Given the description of an element on the screen output the (x, y) to click on. 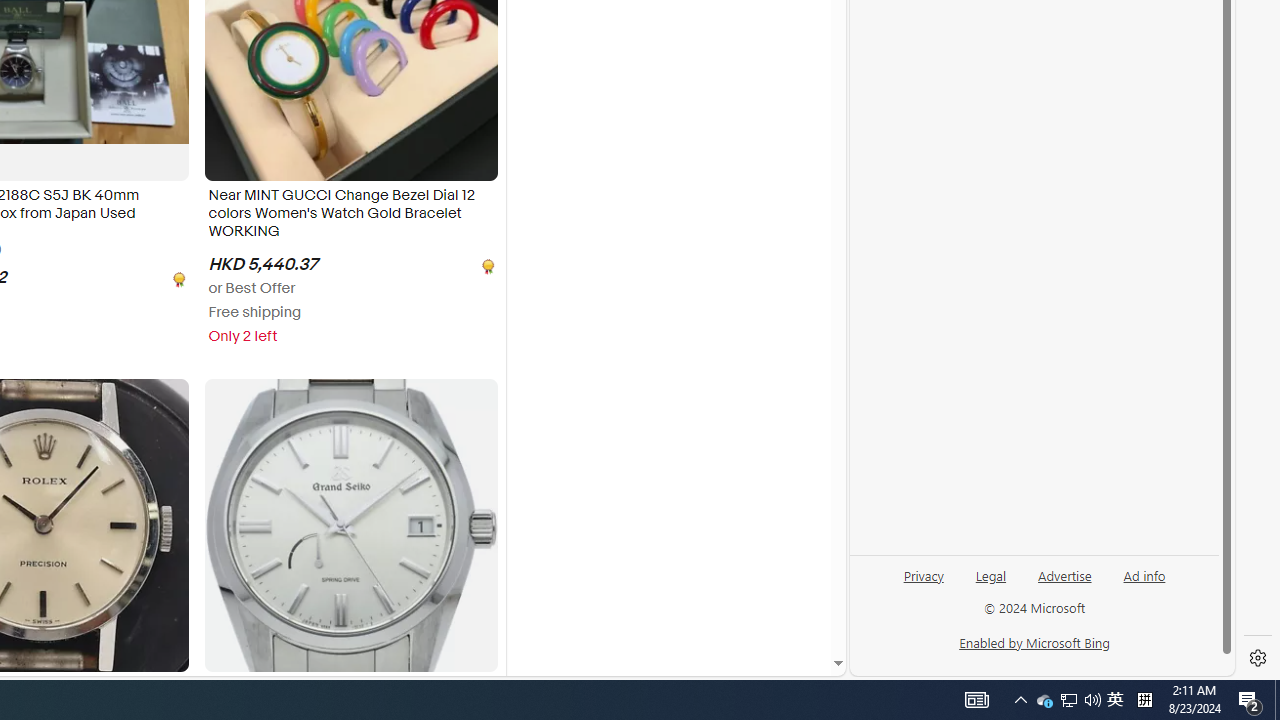
Privacy (923, 583)
Ad info (1144, 583)
Ad info (1144, 574)
Legal (991, 574)
Advertise (1064, 583)
[object Undefined] (486, 264)
Advertise (1064, 574)
Privacy (923, 574)
Legal (990, 583)
